Given the description of an element on the screen output the (x, y) to click on. 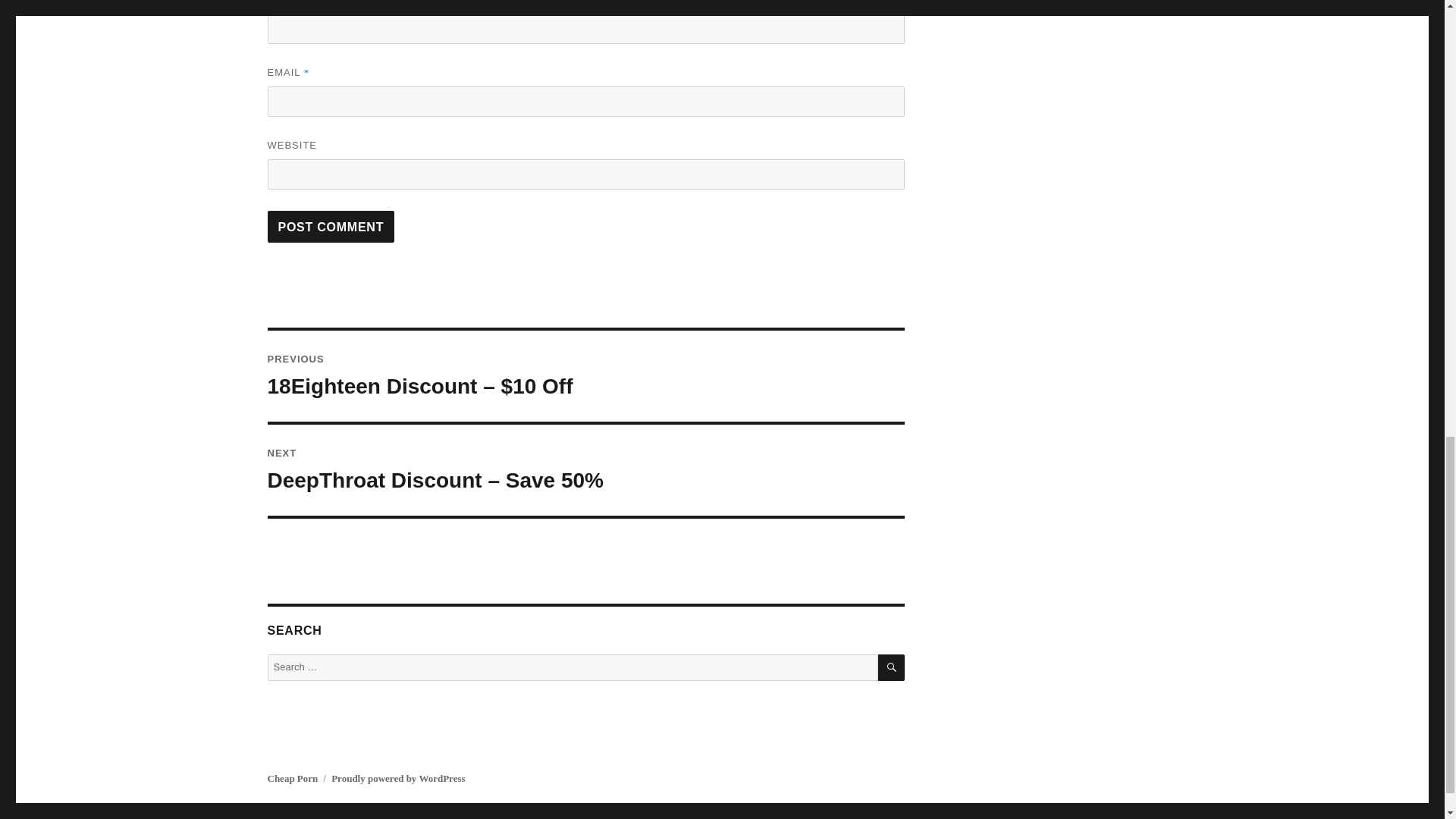
Post Comment (330, 226)
SEARCH (890, 667)
Post Comment (330, 226)
